Given the description of an element on the screen output the (x, y) to click on. 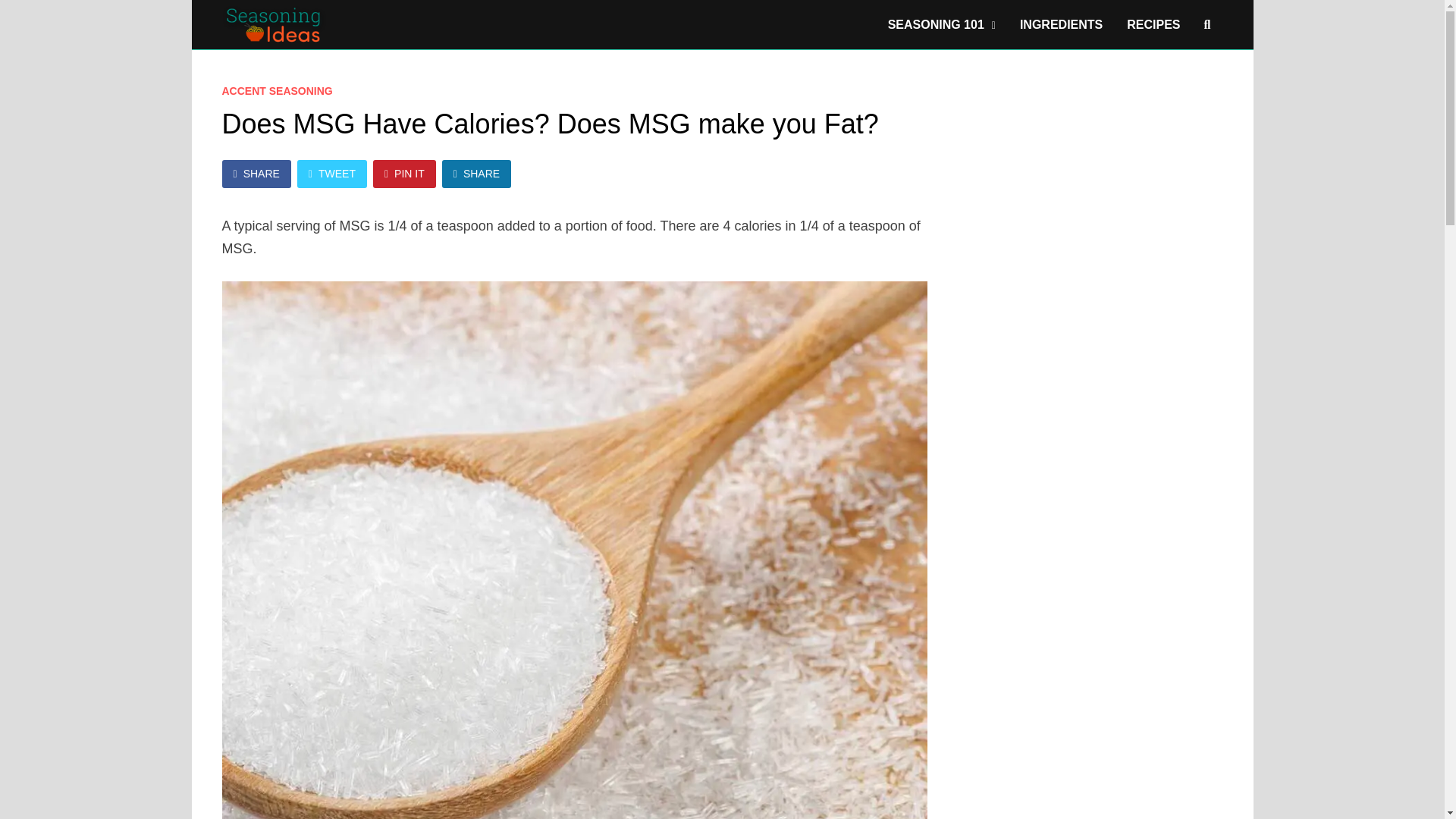
TWEET (331, 173)
SEASONING 101 (941, 24)
PIN IT (403, 173)
INGREDIENTS (1061, 24)
SHARE (476, 173)
SHARE (255, 173)
RECIPES (1153, 24)
ACCENT SEASONING (276, 91)
